Given the description of an element on the screen output the (x, y) to click on. 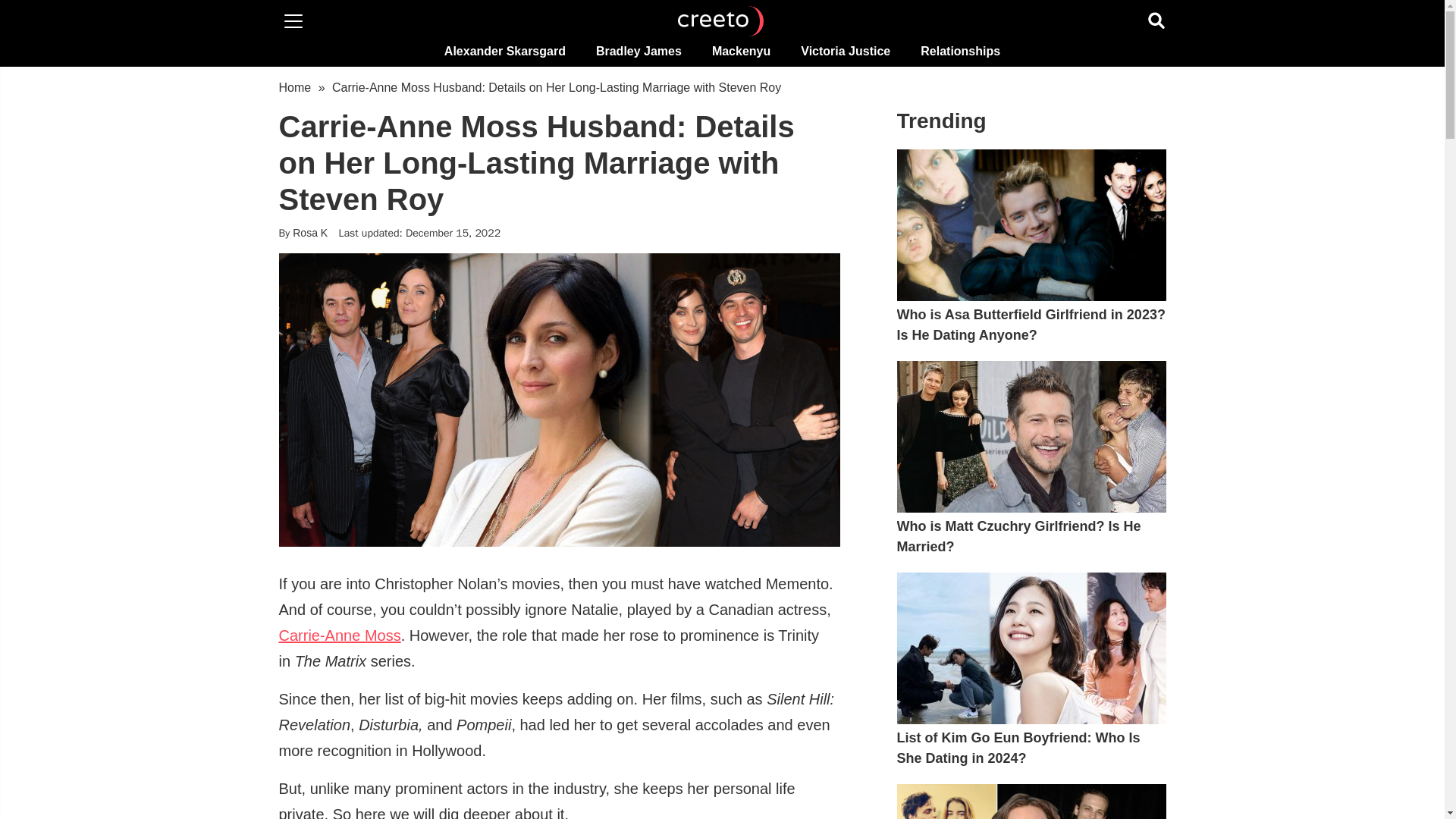
Mackenyu (741, 51)
Alexander Skarsgard (504, 51)
Posts by Rosa K (309, 232)
Bradley James (638, 51)
Rosa K (309, 232)
Relationships (959, 51)
Victoria Justice (845, 51)
Home (295, 87)
Carrie-Anne Moss (340, 635)
